Given the description of an element on the screen output the (x, y) to click on. 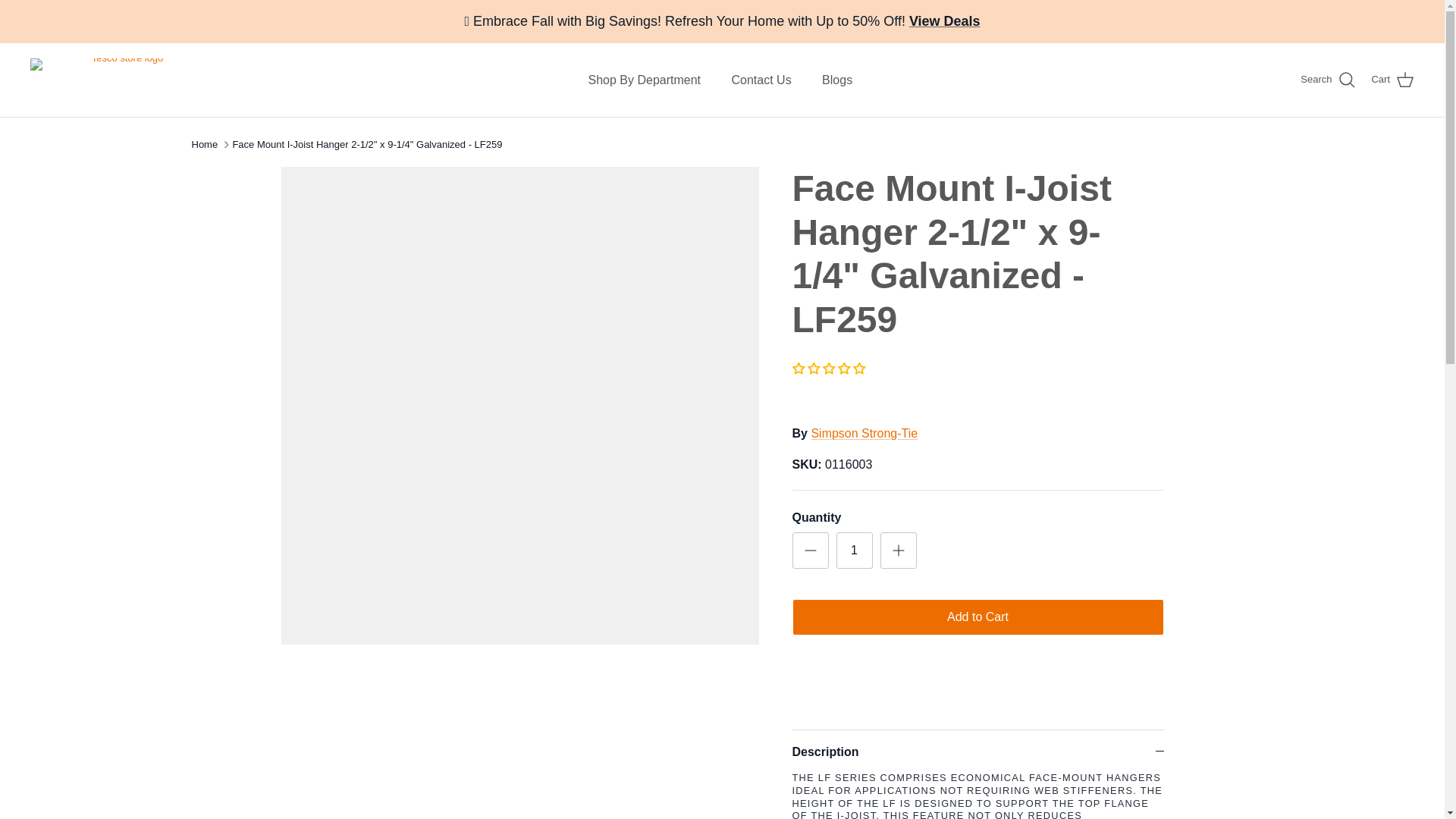
Cart (1392, 80)
Contact Us (761, 80)
Plus (897, 550)
View Deals (943, 20)
Shop By Department (644, 80)
Search (1327, 80)
Minus (809, 550)
Blogs (837, 80)
1 (853, 550)
TESCO Building Supplies  (121, 79)
